Given the description of an element on the screen output the (x, y) to click on. 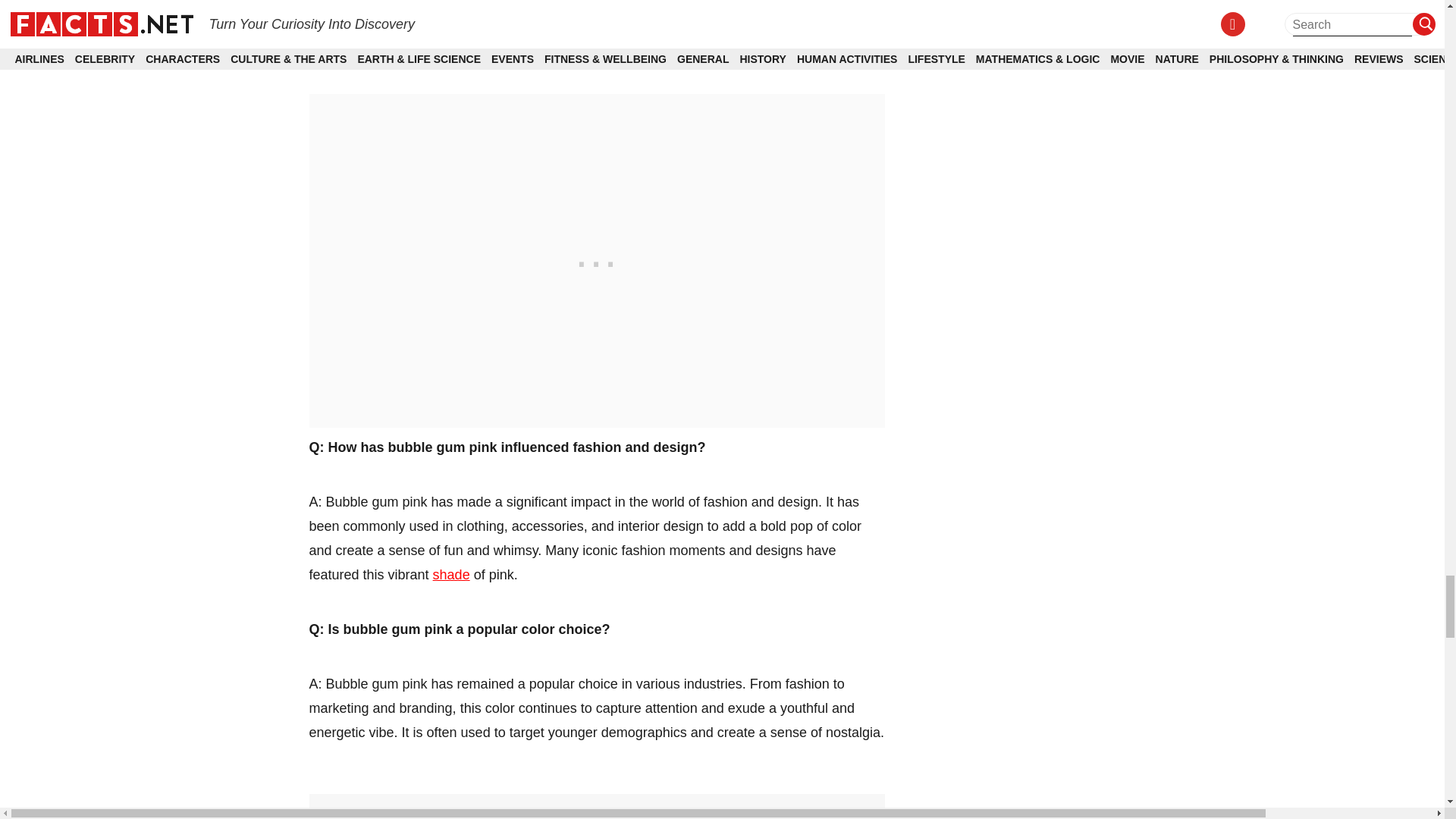
shade (451, 574)
